Given the description of an element on the screen output the (x, y) to click on. 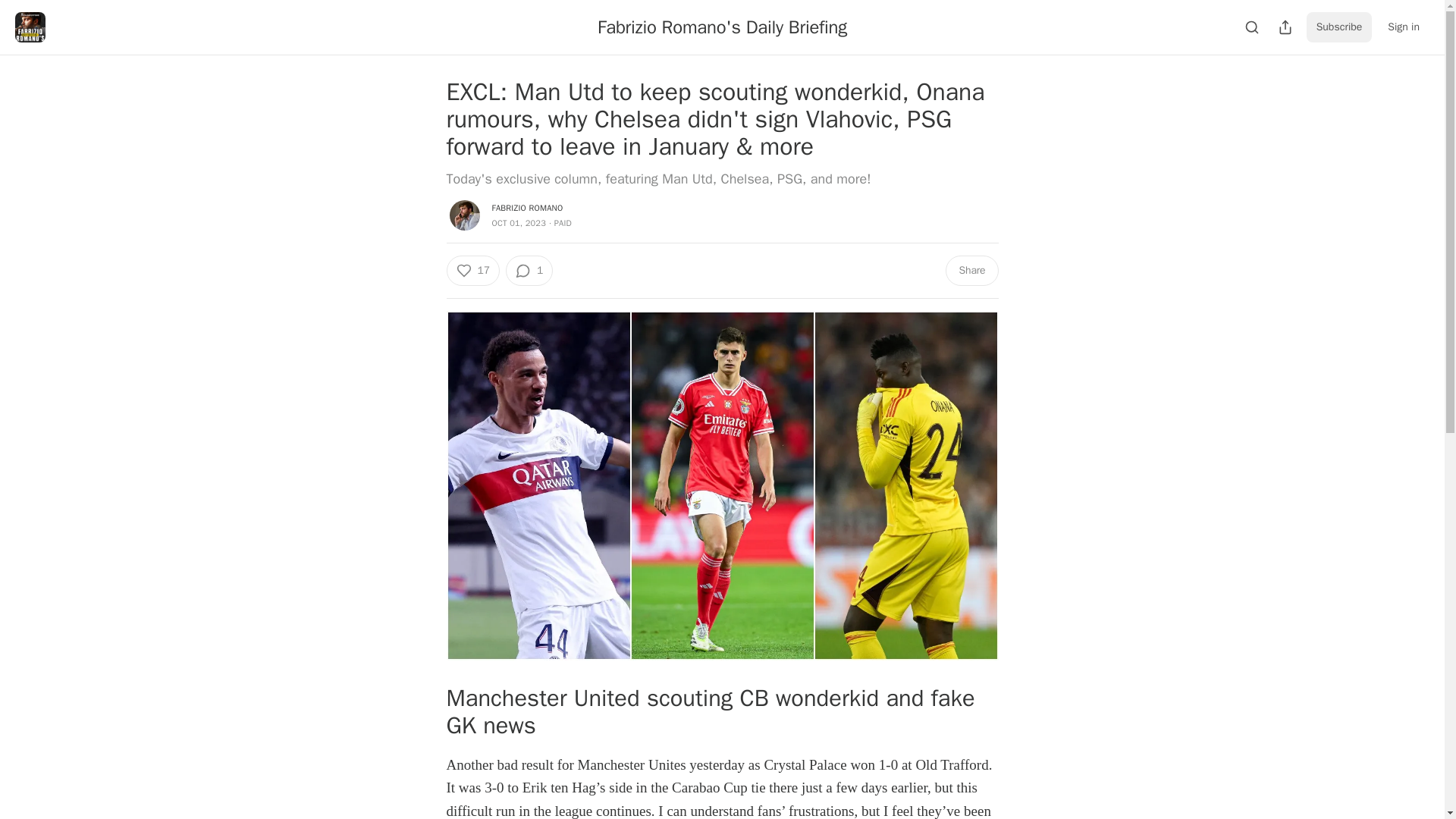
1 (529, 270)
17 (472, 270)
Share (970, 270)
FABRIZIO ROMANO (527, 207)
Subscribe (1339, 27)
Sign in (1403, 27)
Fabrizio Romano's Daily Briefing (721, 26)
